Given the description of an element on the screen output the (x, y) to click on. 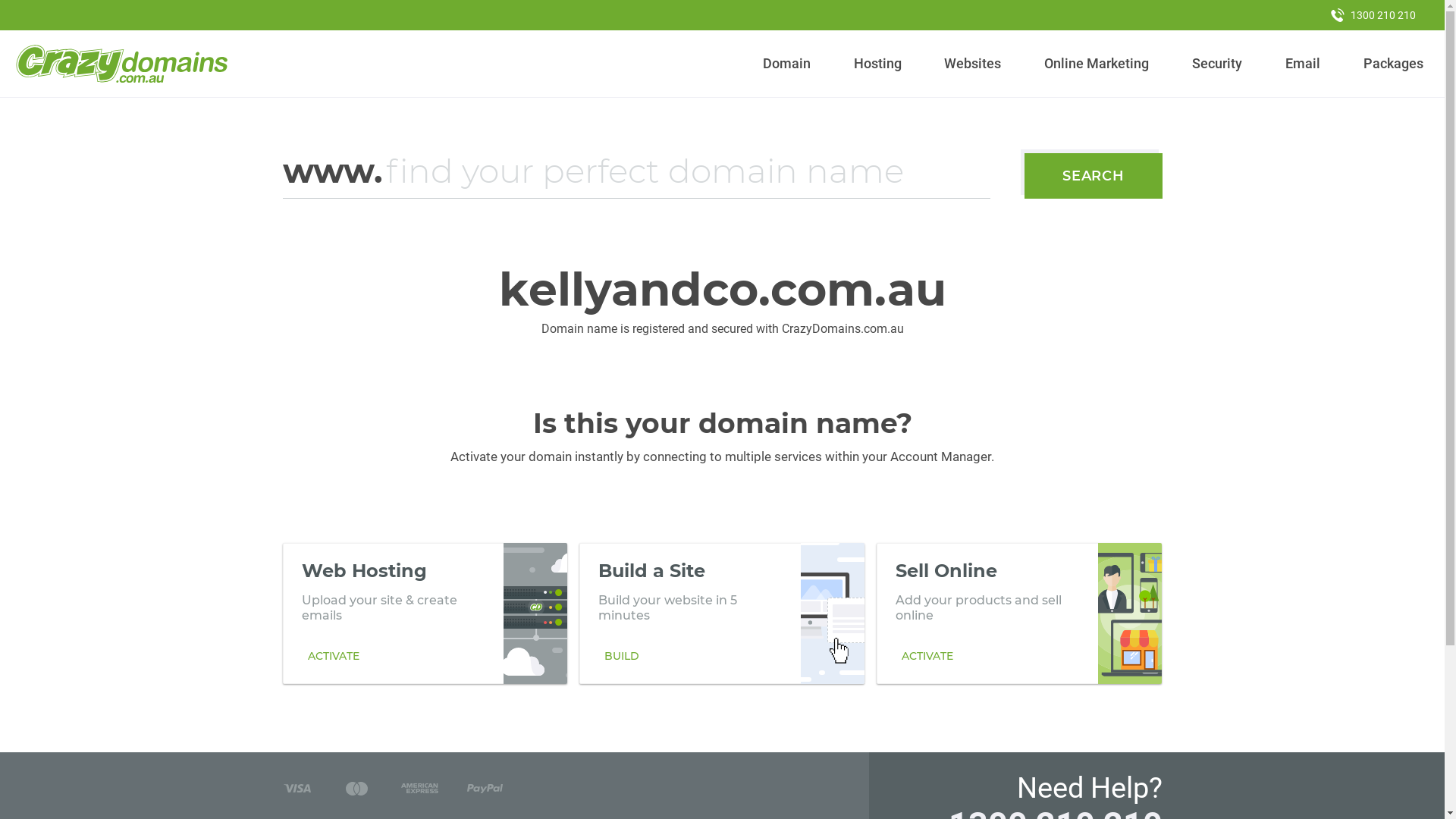
Websites Element type: text (972, 63)
Sell Online
Add your products and sell online
ACTIVATE Element type: text (1018, 613)
Hosting Element type: text (877, 63)
1300 210 210 Element type: text (1373, 15)
Email Element type: text (1302, 63)
Domain Element type: text (786, 63)
Build a Site
Build your website in 5 minutes
BUILD Element type: text (721, 613)
Security Element type: text (1217, 63)
Web Hosting
Upload your site & create emails
ACTIVATE Element type: text (424, 613)
Online Marketing Element type: text (1096, 63)
SEARCH Element type: text (1092, 175)
Packages Element type: text (1392, 63)
